Given the description of an element on the screen output the (x, y) to click on. 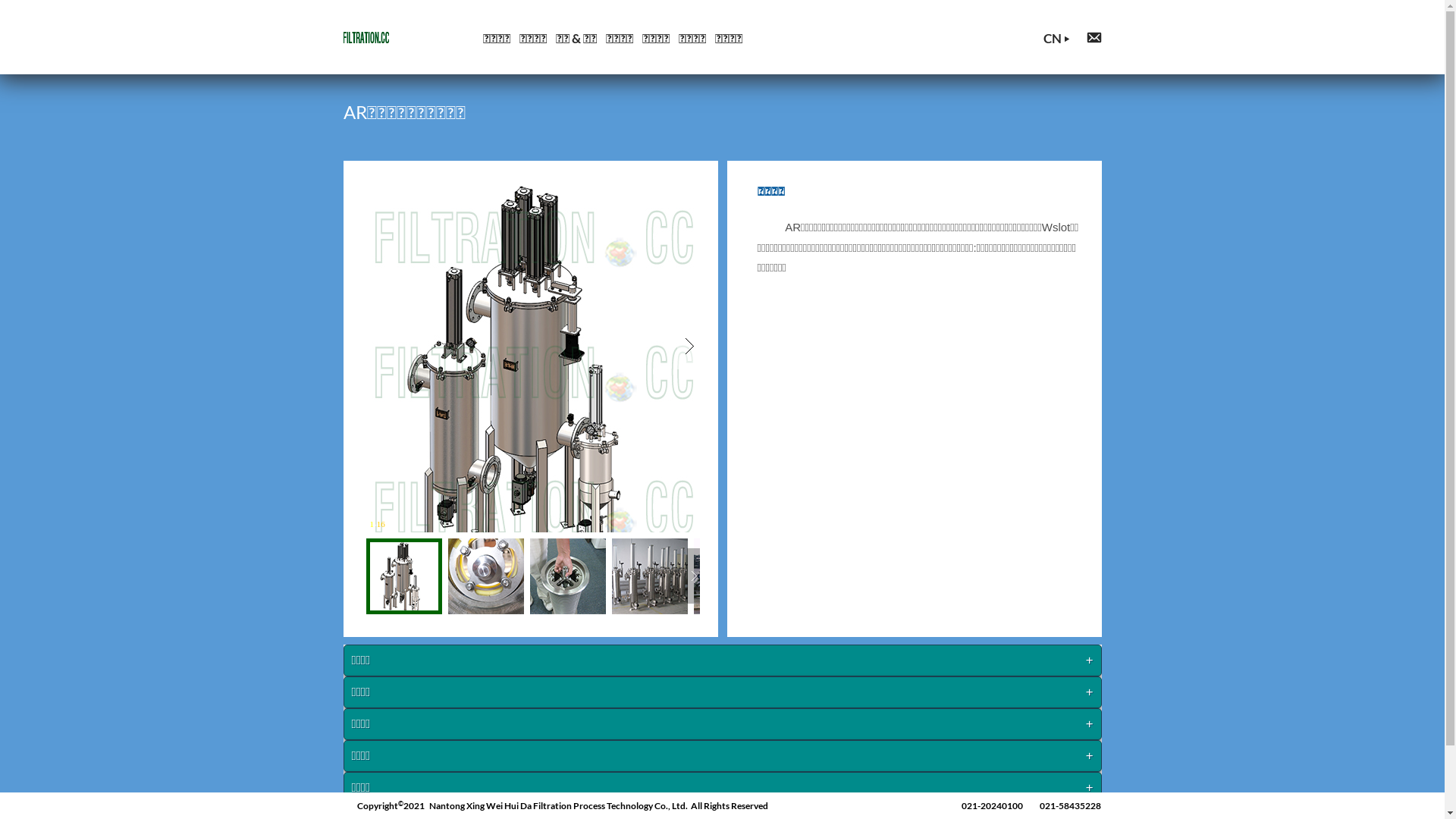
Innovative Self-Cleaning Filters Element type: hover (365, 37)
E-Mail Element type: hover (1093, 37)
CN Element type: text (1052, 38)
